Given the description of an element on the screen output the (x, y) to click on. 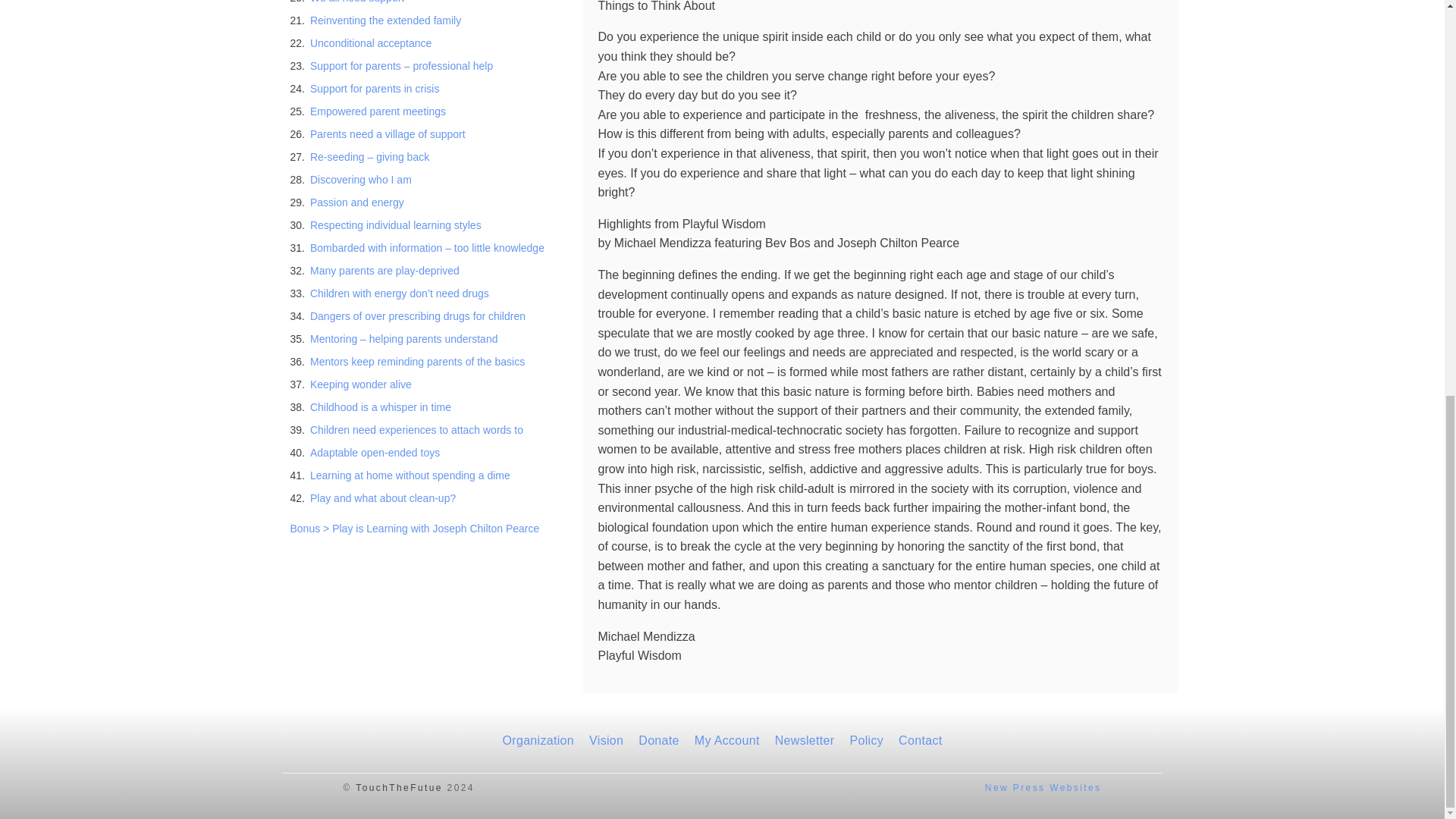
Scroll back to top (1406, 775)
We all need support (357, 1)
Reinventing the extended family (385, 20)
